Given the description of an element on the screen output the (x, y) to click on. 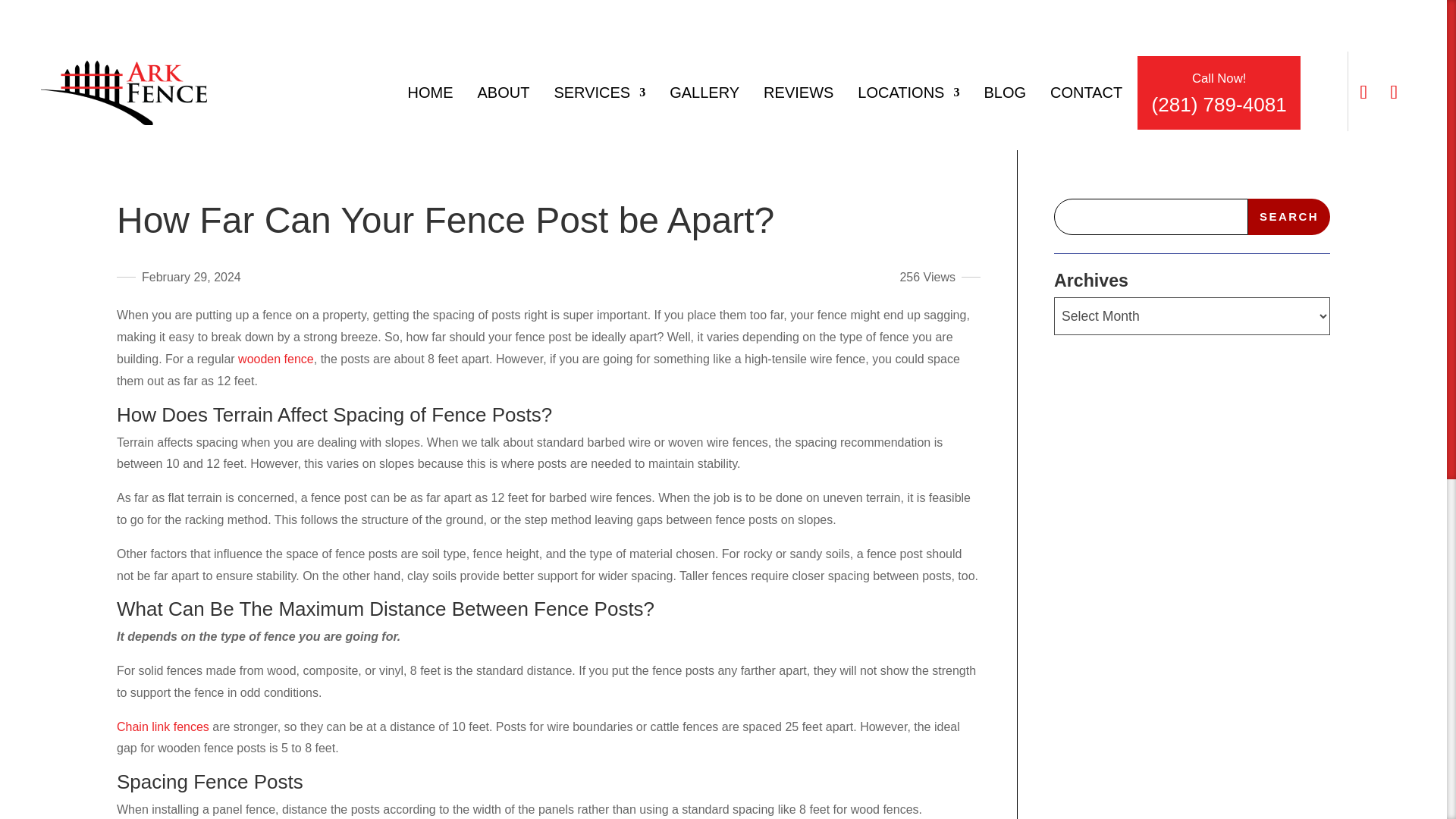
LOCATIONS (908, 95)
Search (1288, 217)
Search (1288, 217)
Follow on Facebook (1363, 92)
wooden fence (276, 358)
HOME (429, 95)
SERVICES (599, 95)
CONTACT (1085, 95)
Call Now! (1219, 78)
BLOG (1005, 95)
